Given the description of an element on the screen output the (x, y) to click on. 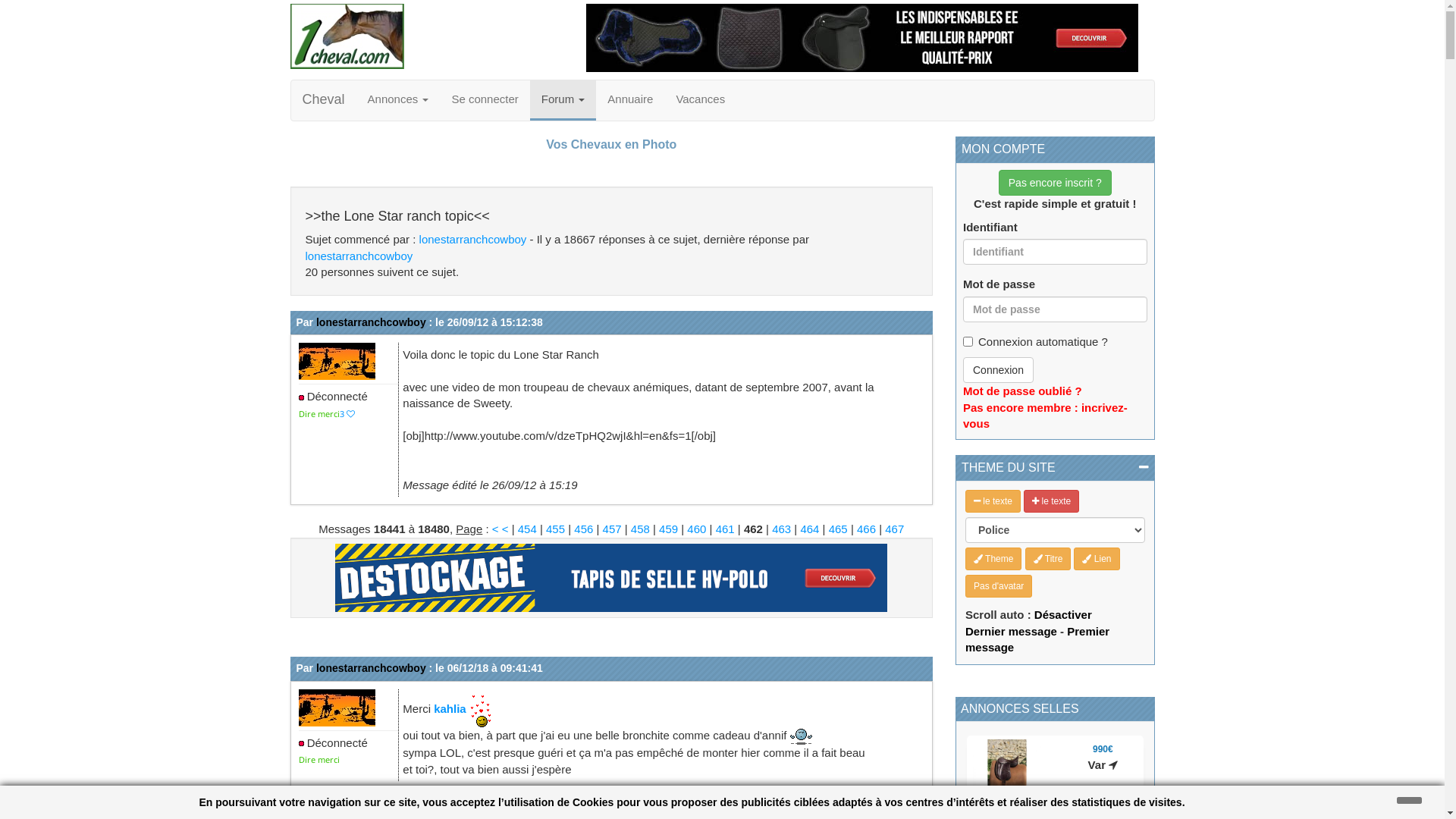
467 Element type: text (893, 528)
Pas encore inscrit ? Element type: text (1054, 182)
lonestarranchcowboy Element type: text (371, 668)
Premier message Element type: text (1037, 638)
Dire merci Element type: text (318, 413)
Annonces Element type: text (398, 99)
458 Element type: text (639, 528)
Dire merci Element type: text (318, 759)
465 Element type: text (837, 528)
lonestarranchcowboy Element type: text (371, 322)
460 Element type: text (696, 528)
Vos Chevaux en Photo Element type: text (611, 144)
456 Element type: text (583, 528)
Se connecter Element type: text (484, 99)
Forum Element type: text (563, 99)
< < Element type: text (501, 528)
454 Element type: text (526, 528)
Pas encore membre : incrivez-vous Element type: text (1045, 415)
464 Element type: text (809, 528)
Vacances Element type: text (700, 99)
Selle de dressage HOFFSTEINER 2016 Element type: text (1054, 804)
le texte Element type: text (992, 500)
Dernier message Element type: text (1011, 630)
lonestarranchcowboy Element type: text (358, 255)
461 Element type: text (724, 528)
le texte Element type: text (1051, 500)
466 Element type: text (865, 528)
Cheval Element type: text (323, 99)
457 Element type: text (611, 528)
459 Element type: text (667, 528)
lonestarranchcowboy Element type: text (473, 238)
Annuaire Element type: text (630, 99)
455 Element type: text (555, 528)
Connexion Element type: text (998, 369)
463 Element type: text (780, 528)
